Given the description of an element on the screen output the (x, y) to click on. 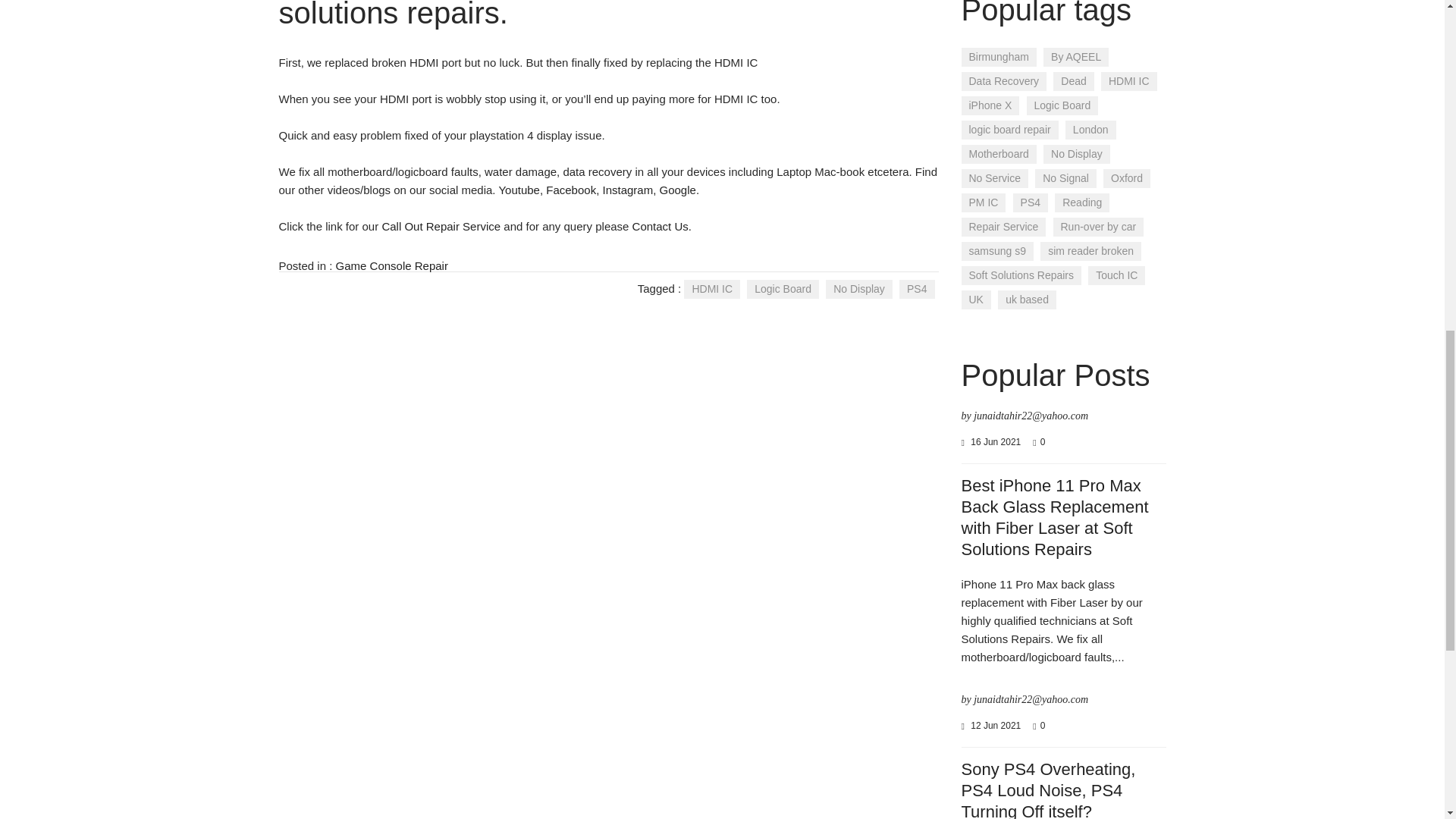
Contact Us. (661, 226)
Game Console Repair (392, 265)
Call Out Repair Service (440, 226)
PS4 (916, 289)
Logic Board (782, 289)
HDMI IC (711, 289)
acebook, Instag (593, 189)
No Display (858, 289)
oogle. (683, 189)
ram, G (650, 189)
Youtube, F (525, 189)
